Given the description of an element on the screen output the (x, y) to click on. 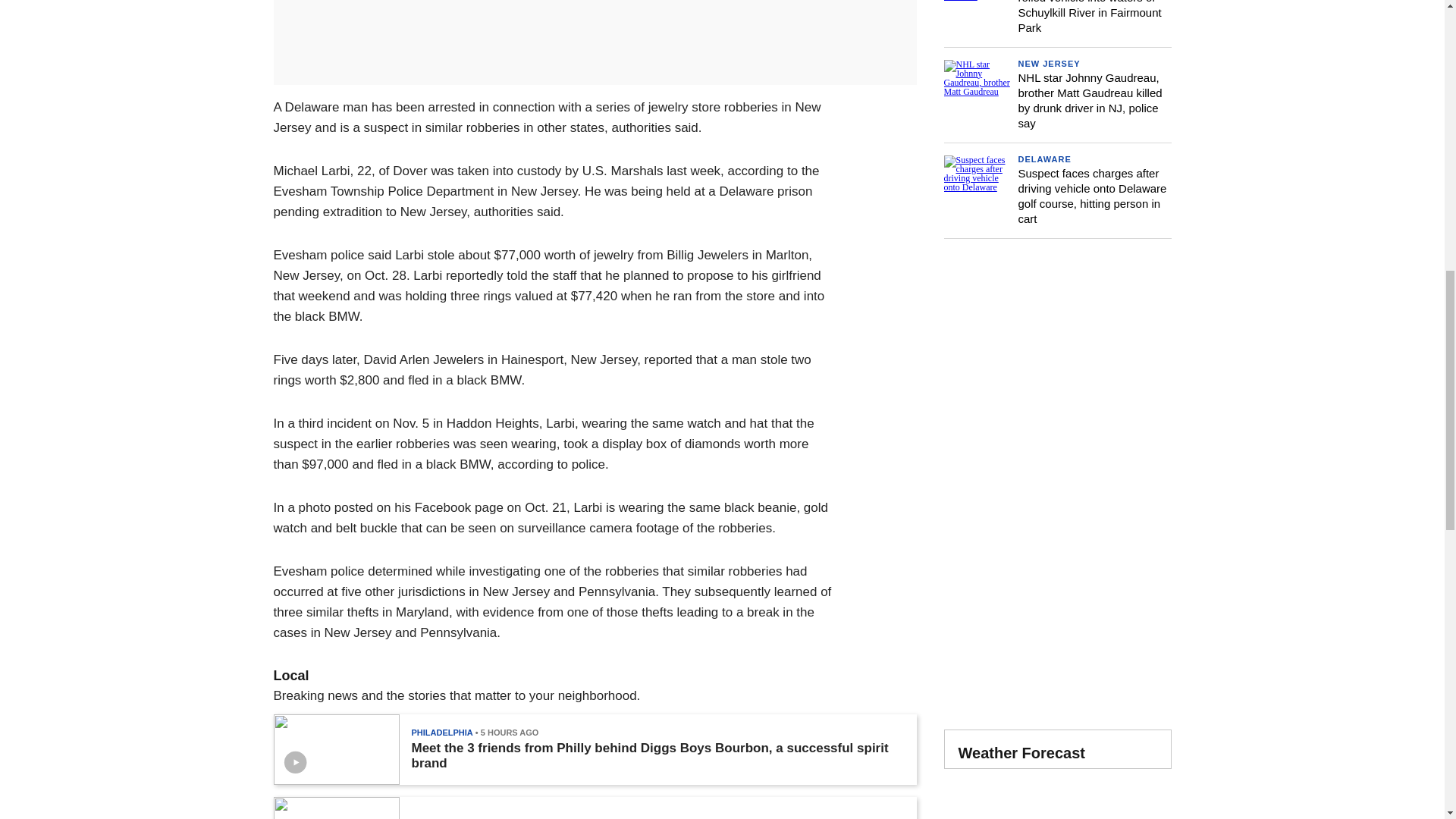
PHILADELPHIA (440, 732)
